Given the description of an element on the screen output the (x, y) to click on. 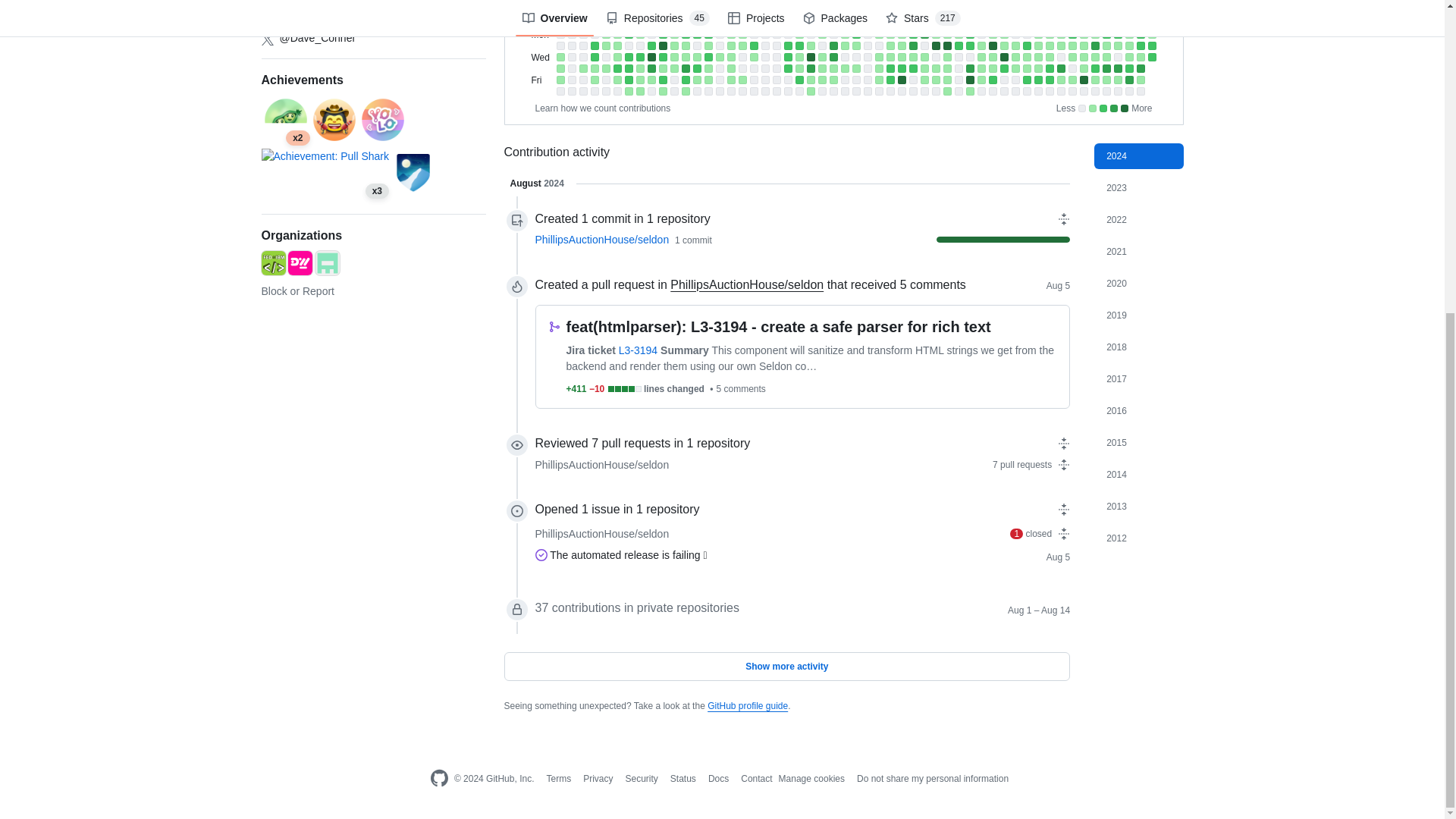
Merged (553, 326)
Closed (541, 553)
GitHub (438, 777)
X (266, 39)
